Given the description of an element on the screen output the (x, y) to click on. 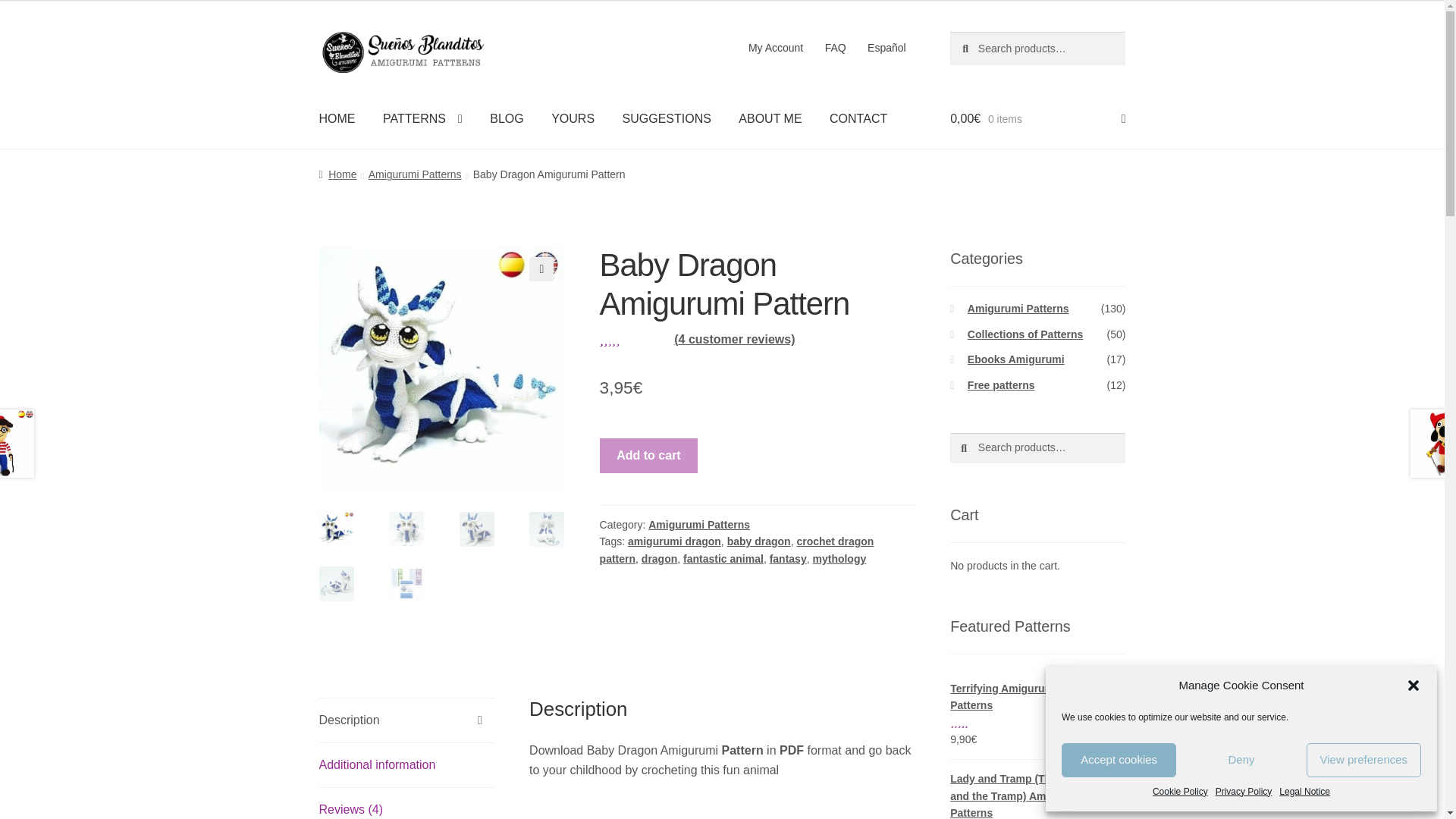
My Account (775, 47)
ABOUT ME (769, 118)
amigurumi-dragon-crochet-pattern (441, 369)
YOURS (572, 118)
Home (337, 174)
FAQ (835, 47)
Legal Notice (1304, 791)
HOME (337, 118)
BLOG (506, 118)
SUGGESTIONS (666, 118)
Accept cookies (1118, 759)
Cookie Policy (1180, 791)
PATTERNS (422, 118)
View your shopping cart (1037, 118)
